Given the description of an element on the screen output the (x, y) to click on. 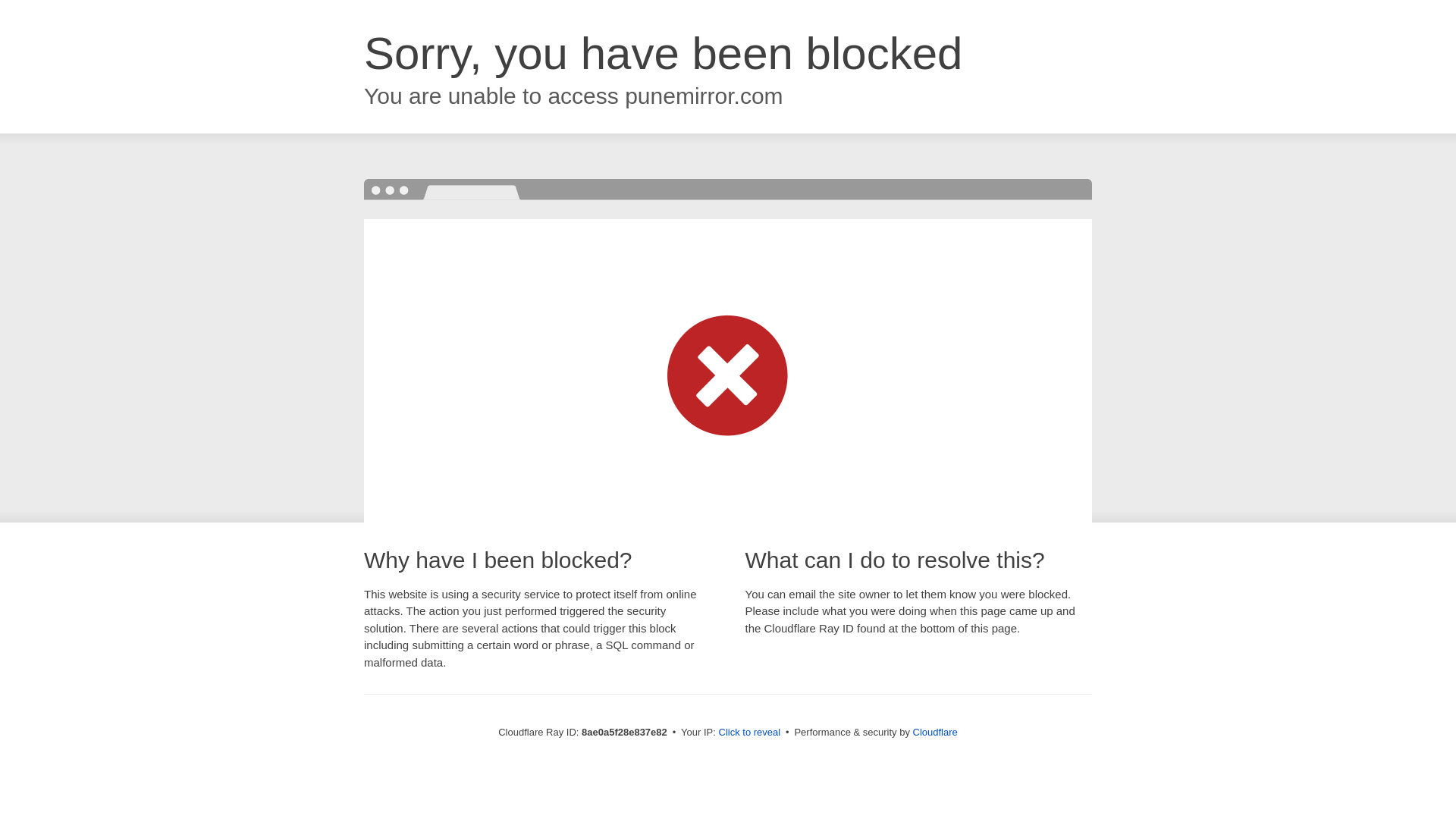
Click to reveal (749, 732)
Cloudflare (935, 731)
